Given the description of an element on the screen output the (x, y) to click on. 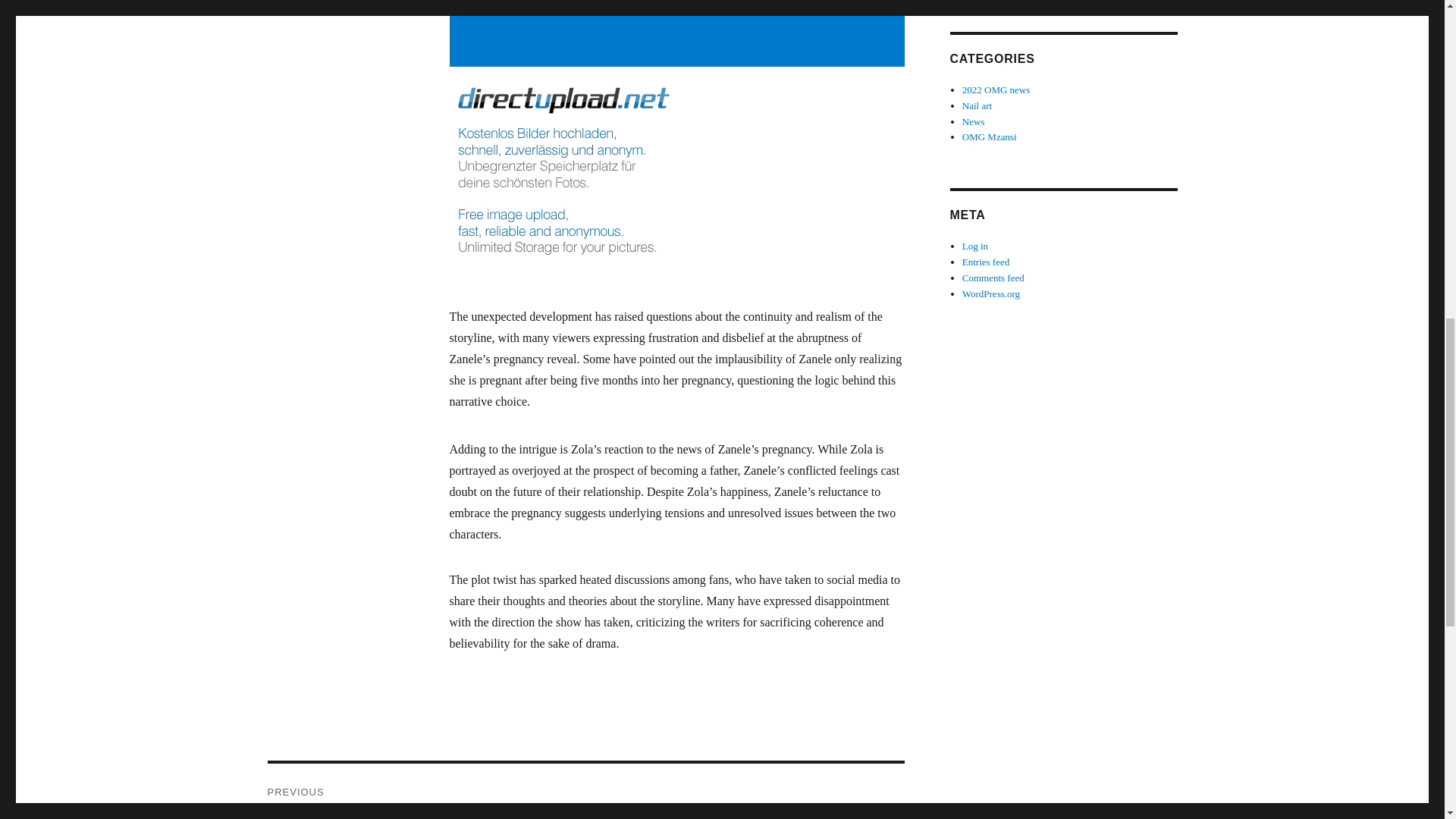
WordPress.org (991, 293)
Comments feed (993, 277)
Nail art (976, 105)
2022 OMG news (996, 89)
OMG Mzansi (989, 136)
Log in (975, 245)
Entries feed (985, 261)
News (973, 120)
Advertisement (679, 33)
